Given the description of an element on the screen output the (x, y) to click on. 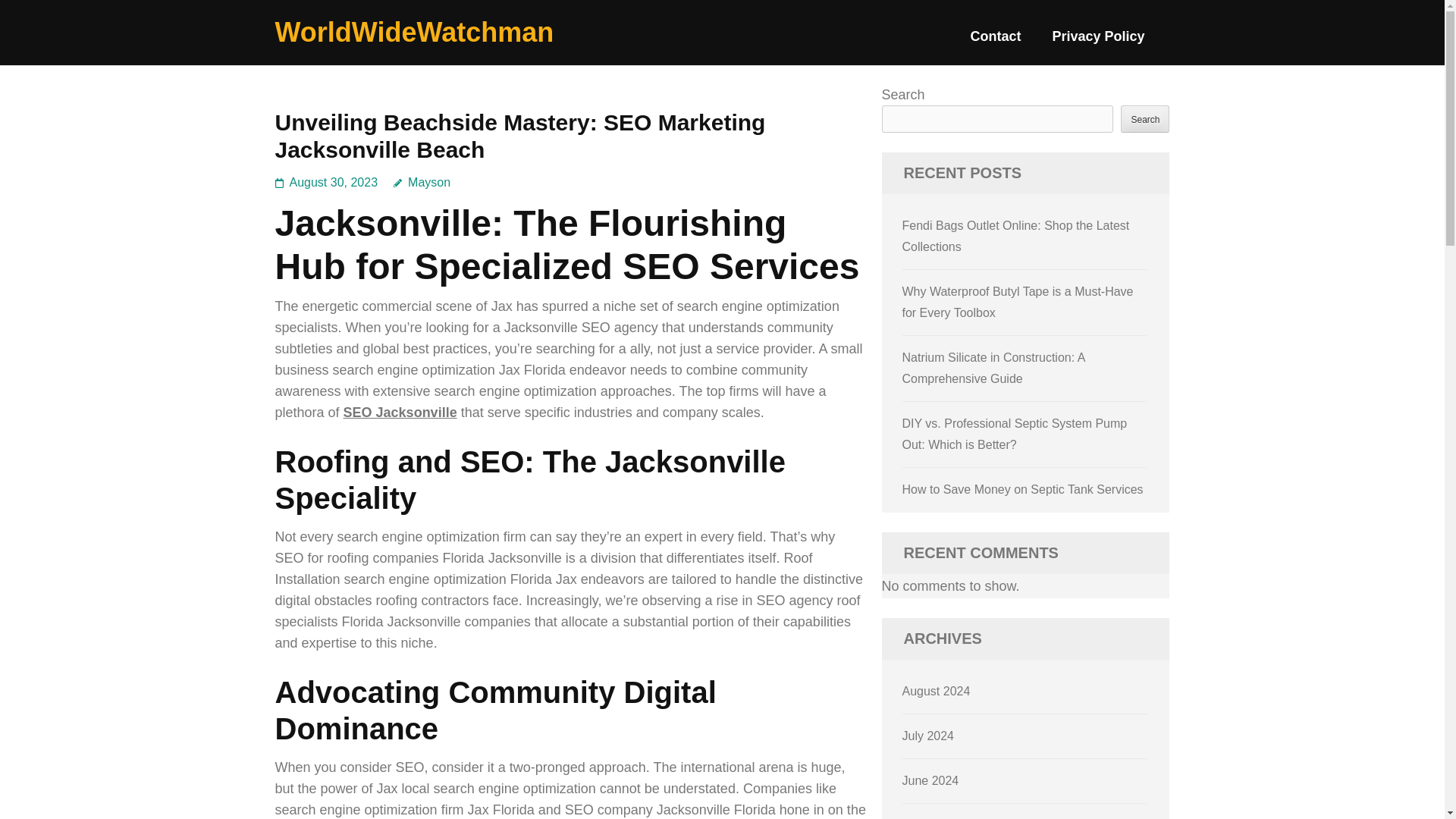
Natrium Silicate in Construction: A Comprehensive Guide (993, 367)
Search (1145, 118)
July 2024 (928, 735)
August 30, 2023 (333, 182)
June 2024 (930, 780)
Why Waterproof Butyl Tape is a Must-Have for Every Toolbox (1018, 302)
How to Save Money on Septic Tank Services (1022, 489)
Mayson (421, 182)
SEO Jacksonville (400, 412)
